Given the description of an element on the screen output the (x, y) to click on. 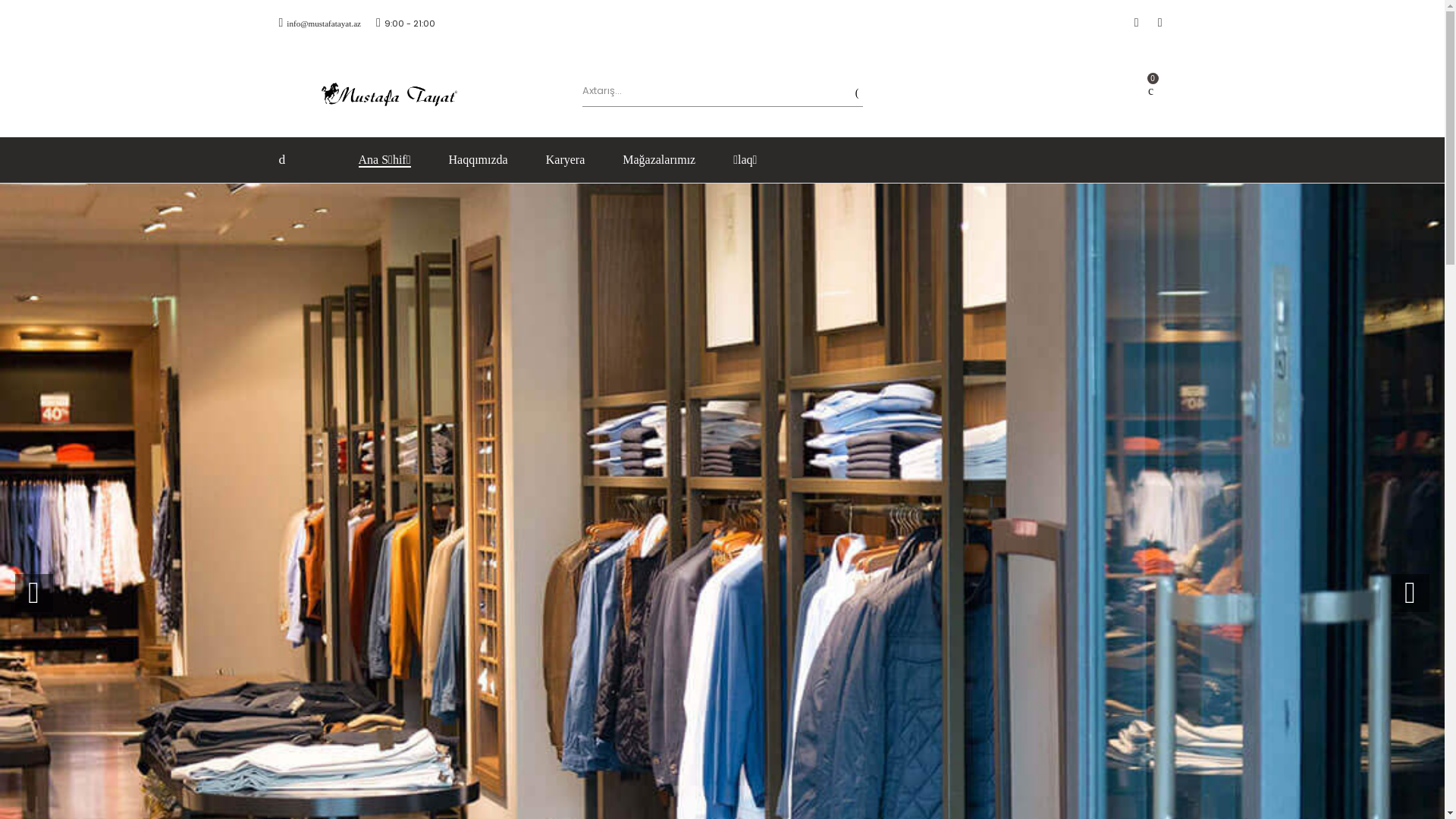
0 Element type: text (1150, 90)
Axtar: Element type: hover (705, 90)
info@mustafatayat.az Element type: text (320, 22)
Karyera Element type: text (565, 159)
